Given the description of an element on the screen output the (x, y) to click on. 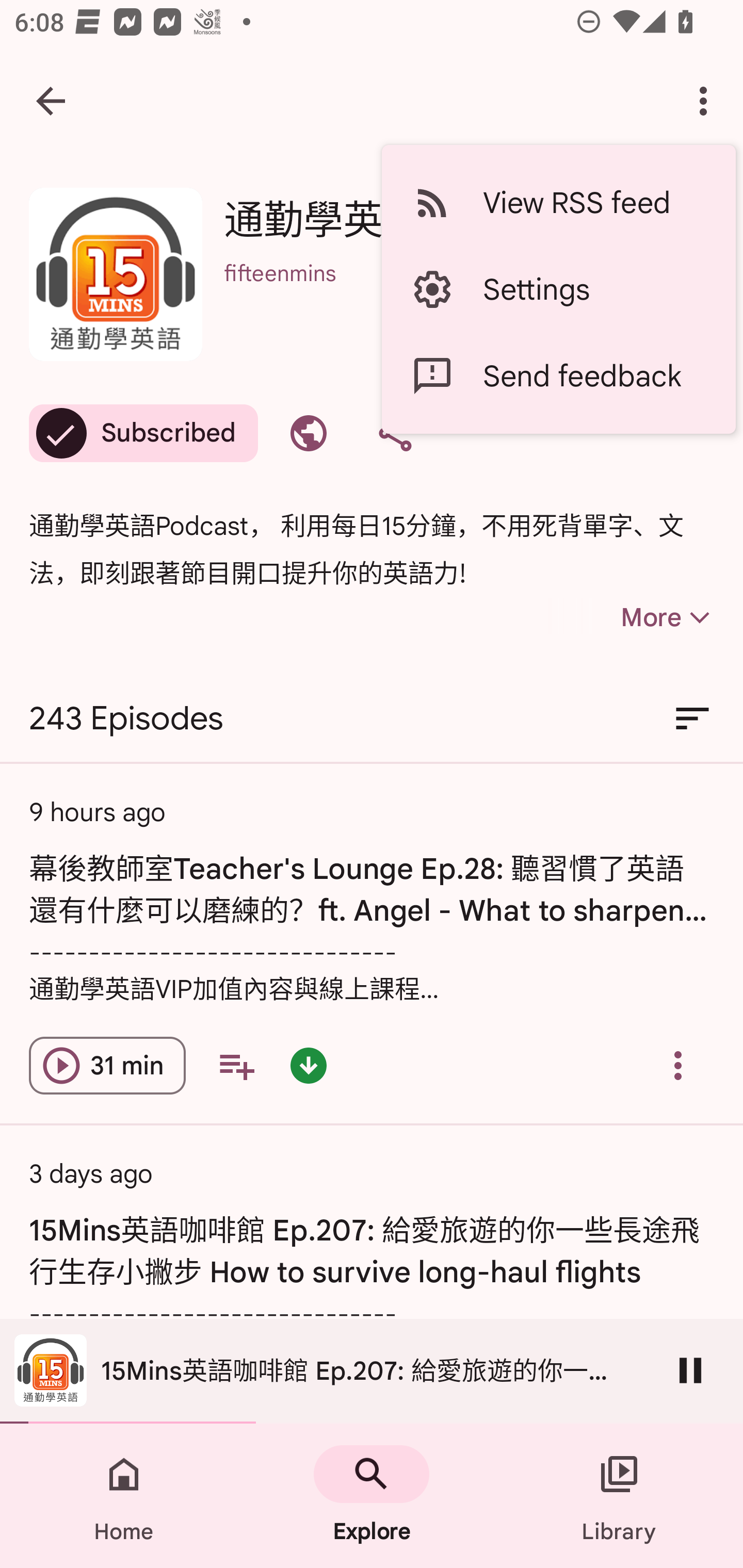
View RSS feed (558, 202)
Settings (558, 289)
Send feedback (558, 375)
